Given the description of an element on the screen output the (x, y) to click on. 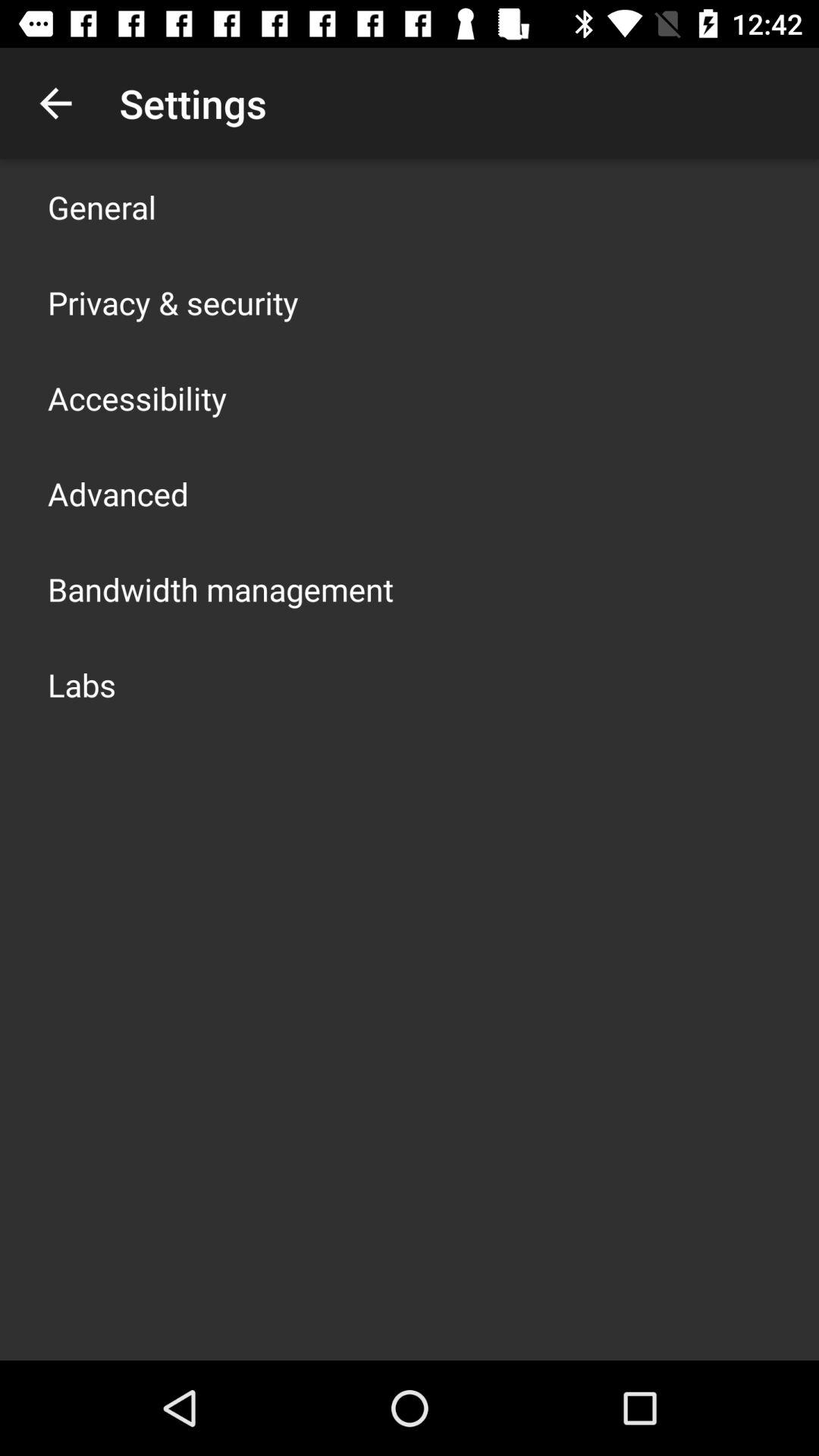
choose the item next to the settings (55, 103)
